Given the description of an element on the screen output the (x, y) to click on. 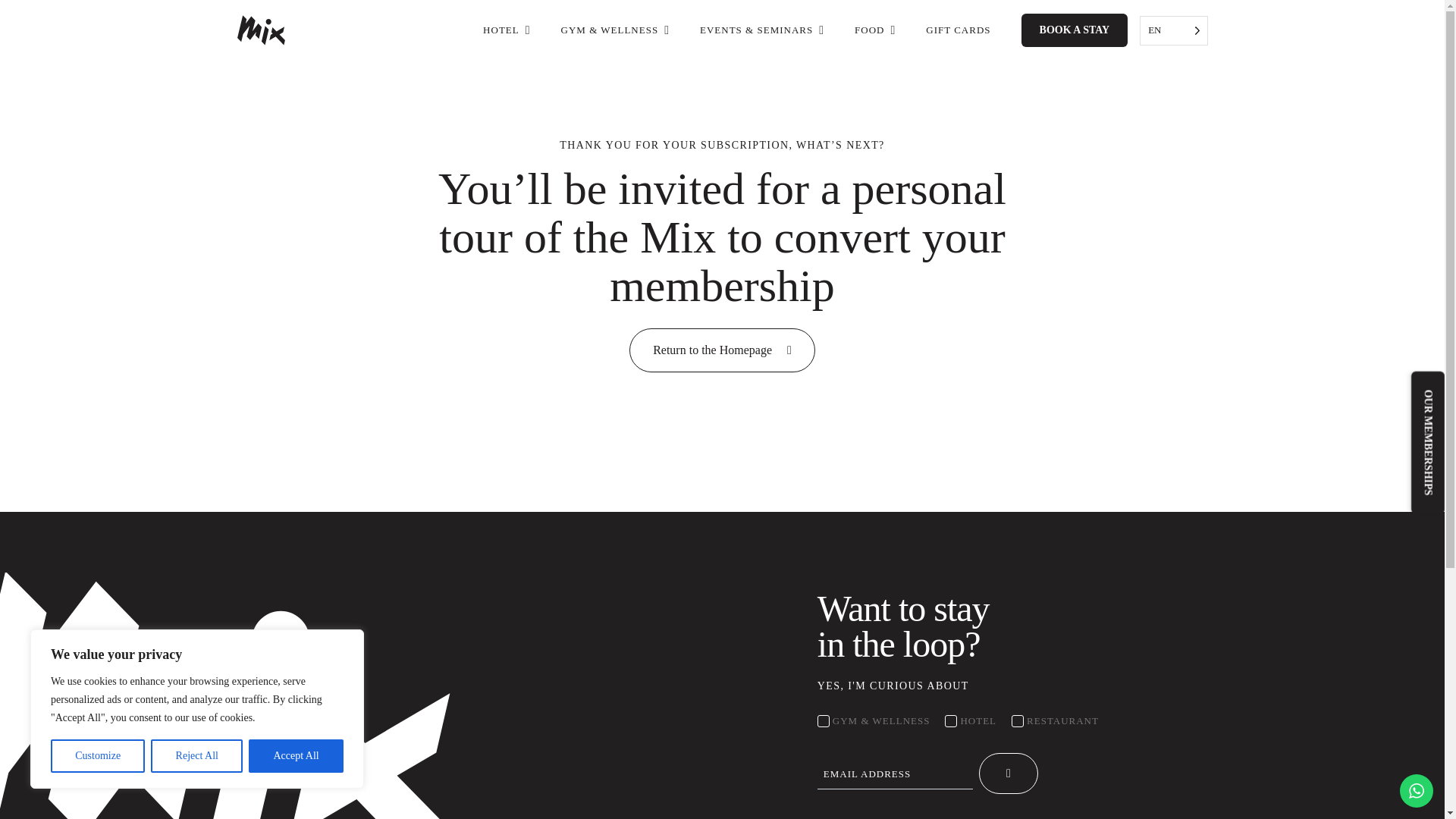
Customize (97, 756)
Hotel (950, 720)
Submit (1007, 773)
Accept All (295, 756)
Reject All (197, 756)
Restaurant (1017, 720)
